Given the description of an element on the screen output the (x, y) to click on. 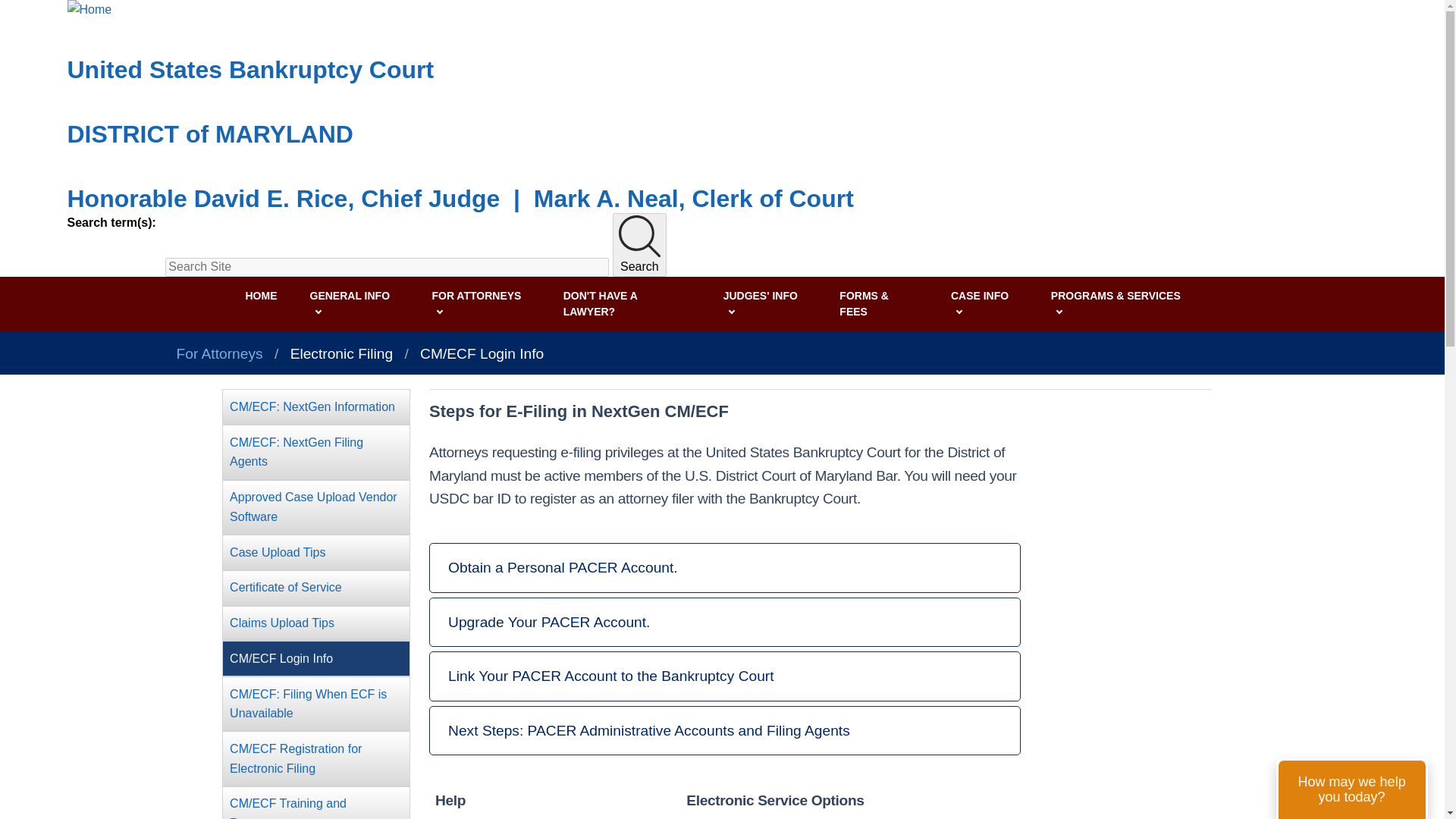
HOME (265, 295)
Enter the terms you wish to search for. (386, 266)
Search icon (639, 236)
Home (459, 198)
Home (209, 134)
Home (249, 69)
Open chat (1352, 788)
United States Bankruptcy Court (249, 69)
GENERAL INFO (359, 303)
